Given the description of an element on the screen output the (x, y) to click on. 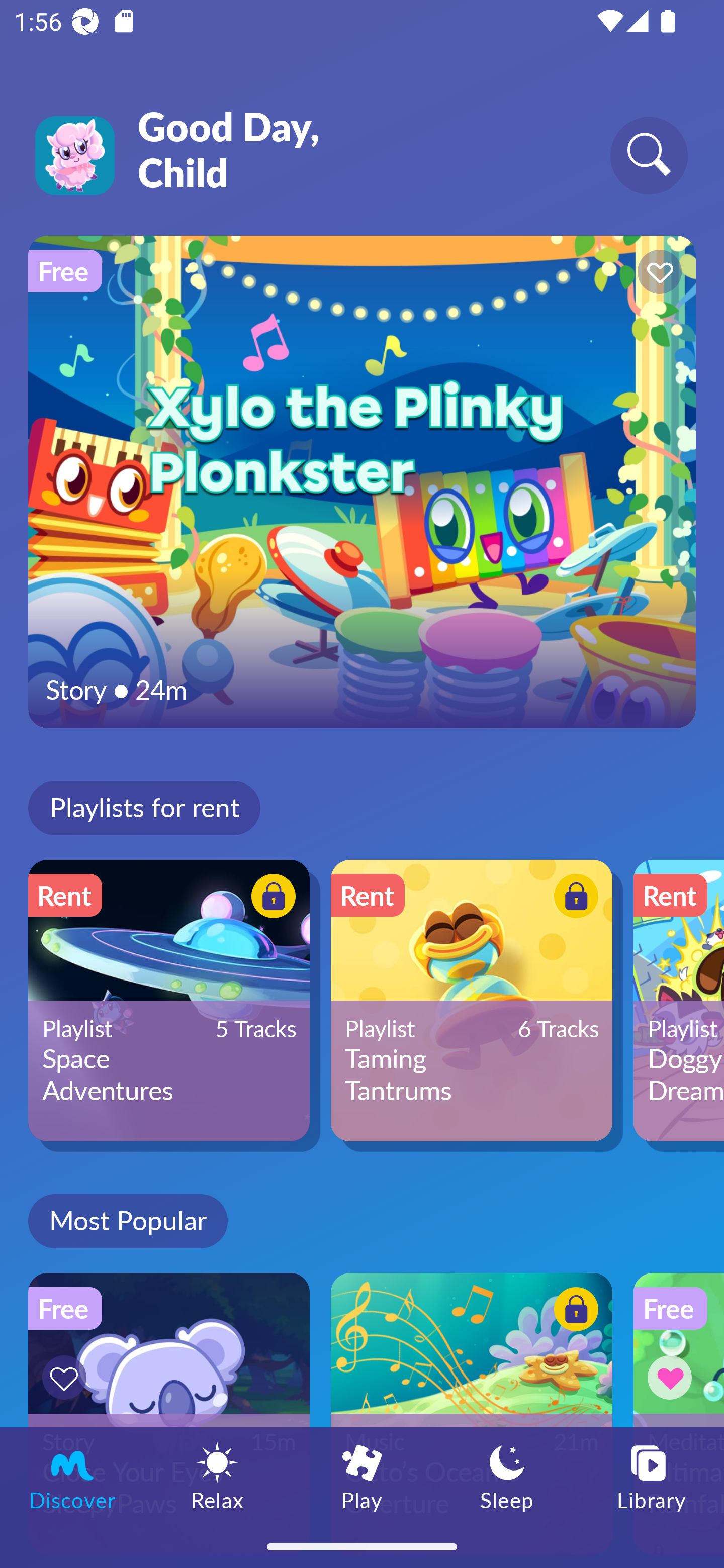
Search (648, 154)
Featured Content Free Button Story ● 24m (361, 481)
Button (656, 274)
Button (269, 898)
Button (573, 898)
Button (573, 1312)
Button (67, 1377)
Button (672, 1377)
Relax (216, 1475)
Play (361, 1475)
Sleep (506, 1475)
Library (651, 1475)
